Given the description of an element on the screen output the (x, y) to click on. 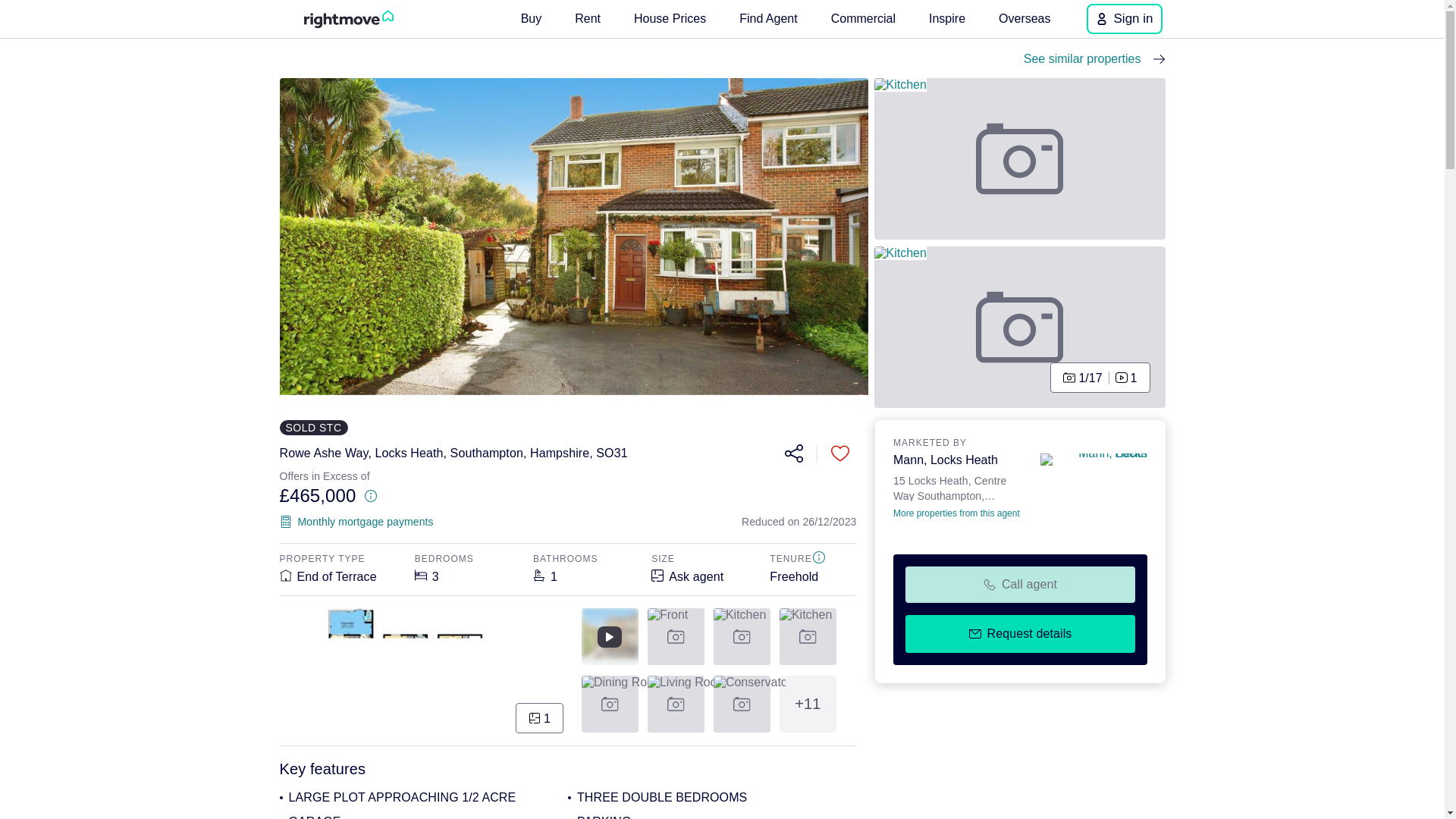
Find Agent (768, 18)
Rent (588, 18)
House Prices (669, 18)
Commercial (863, 18)
Buy (531, 18)
Overseas (1024, 18)
Inspire (947, 18)
